Given the description of an element on the screen output the (x, y) to click on. 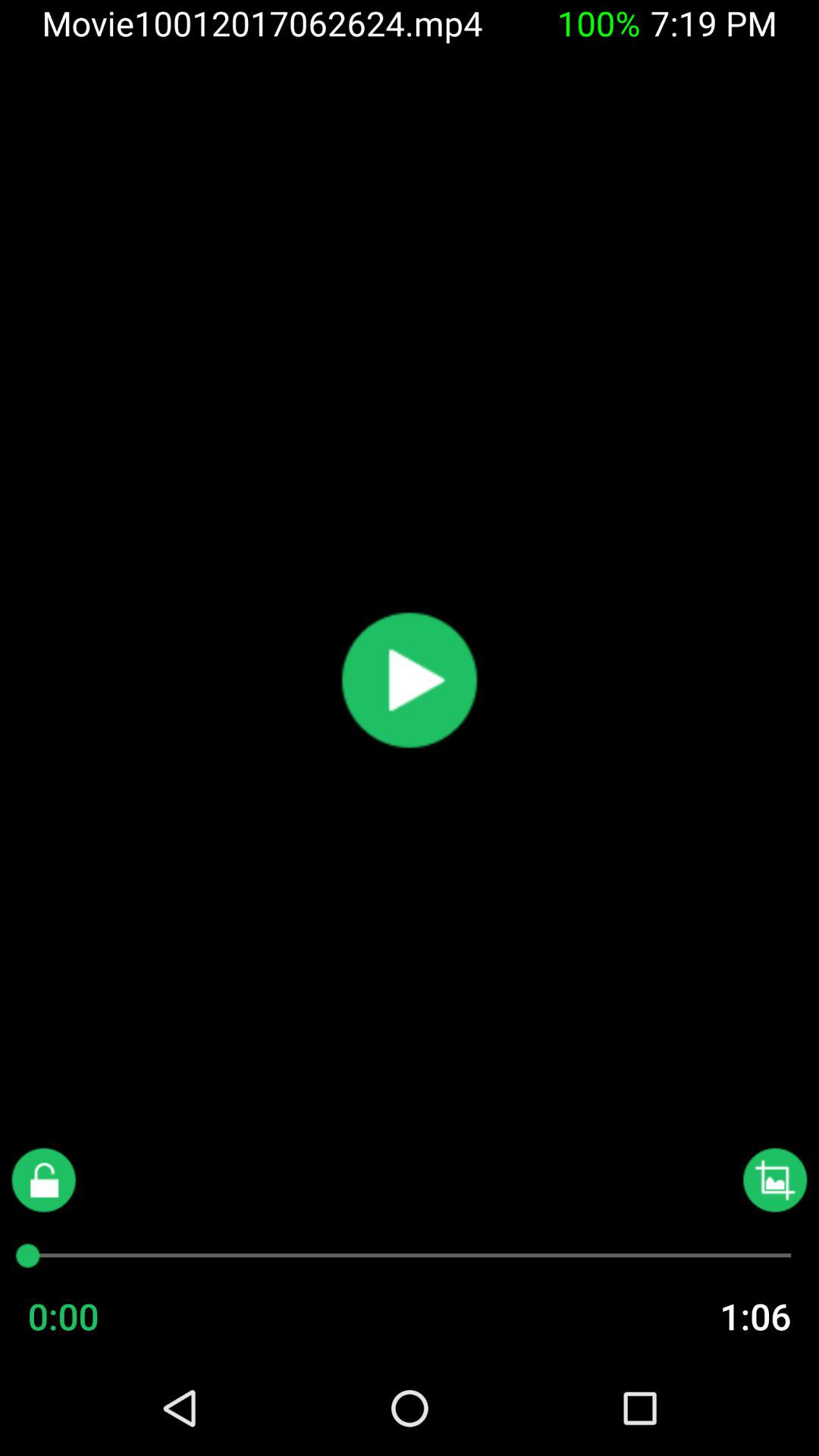
lock screen (43, 1179)
